Given the description of an element on the screen output the (x, y) to click on. 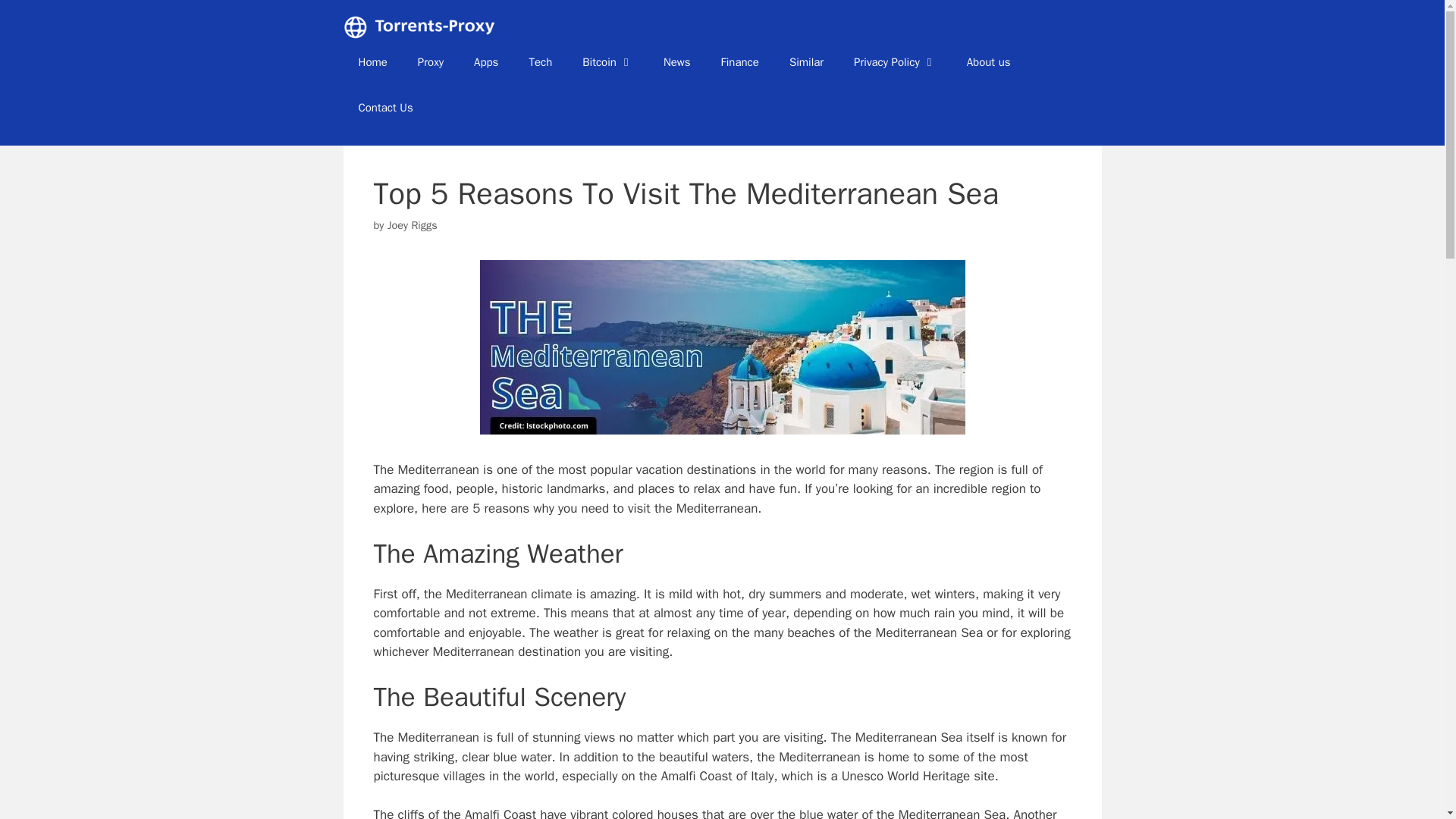
Bitcoin (607, 62)
Proxy (430, 62)
Similar (806, 62)
View all posts by Joey Riggs (412, 224)
Apps (485, 62)
News (676, 62)
Finance (740, 62)
About us (989, 62)
Privacy Policy (895, 62)
Joey Riggs (412, 224)
Contact Us (385, 107)
Home (371, 62)
Tech (540, 62)
